Given the description of an element on the screen output the (x, y) to click on. 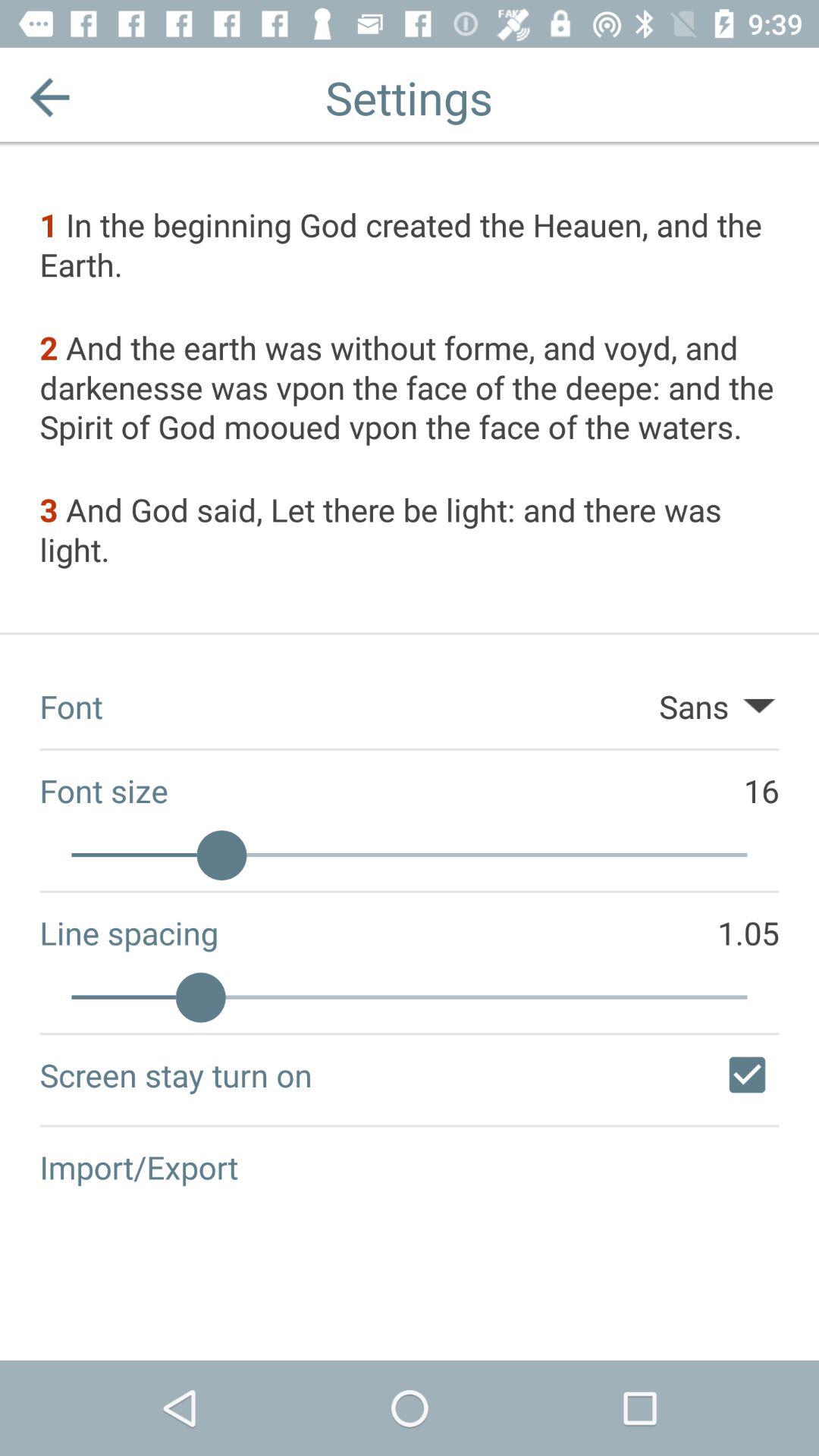
choose app to the right of screen stay turn app (747, 1074)
